Given the description of an element on the screen output the (x, y) to click on. 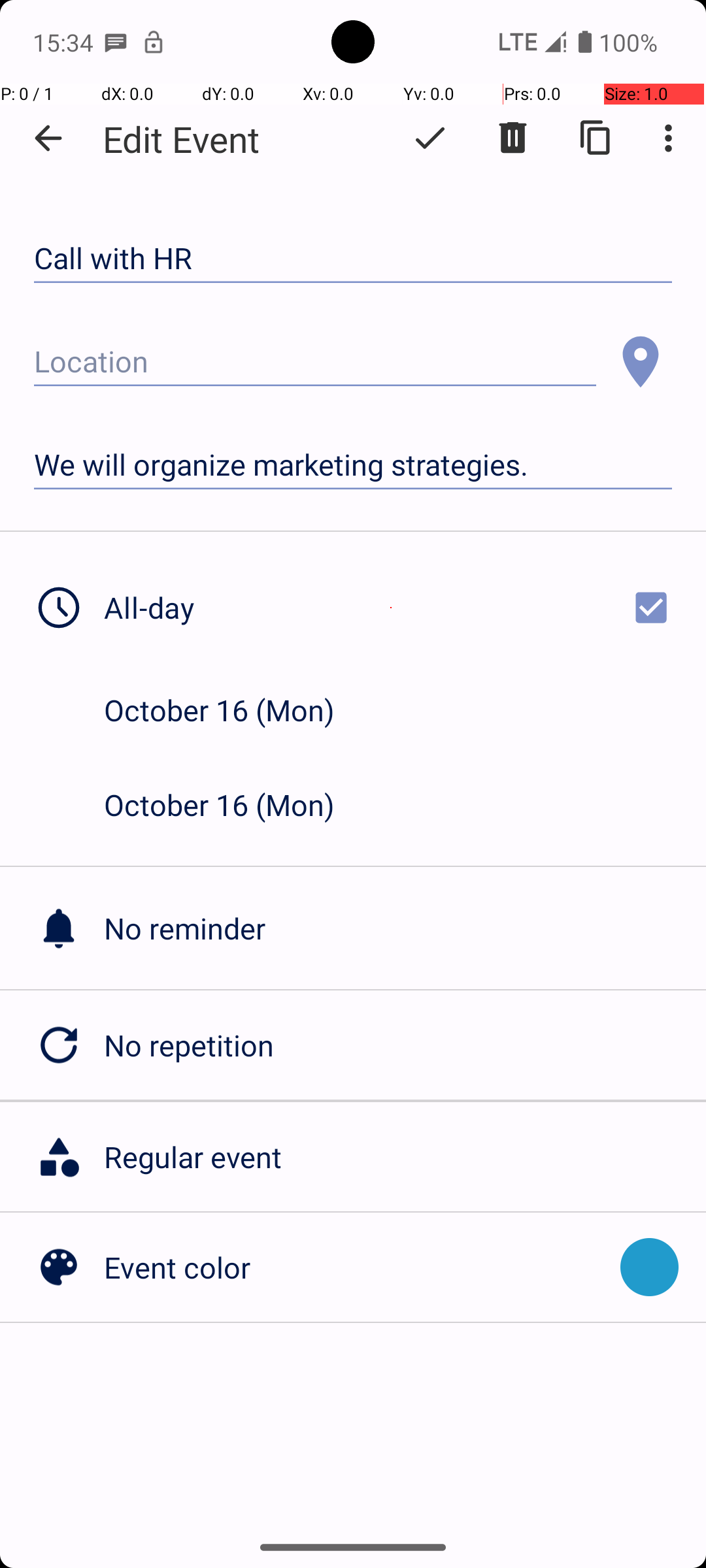
Call with HR Element type: android.widget.EditText (352, 258)
We will organize marketing strategies. Element type: android.widget.EditText (352, 465)
